Given the description of an element on the screen output the (x, y) to click on. 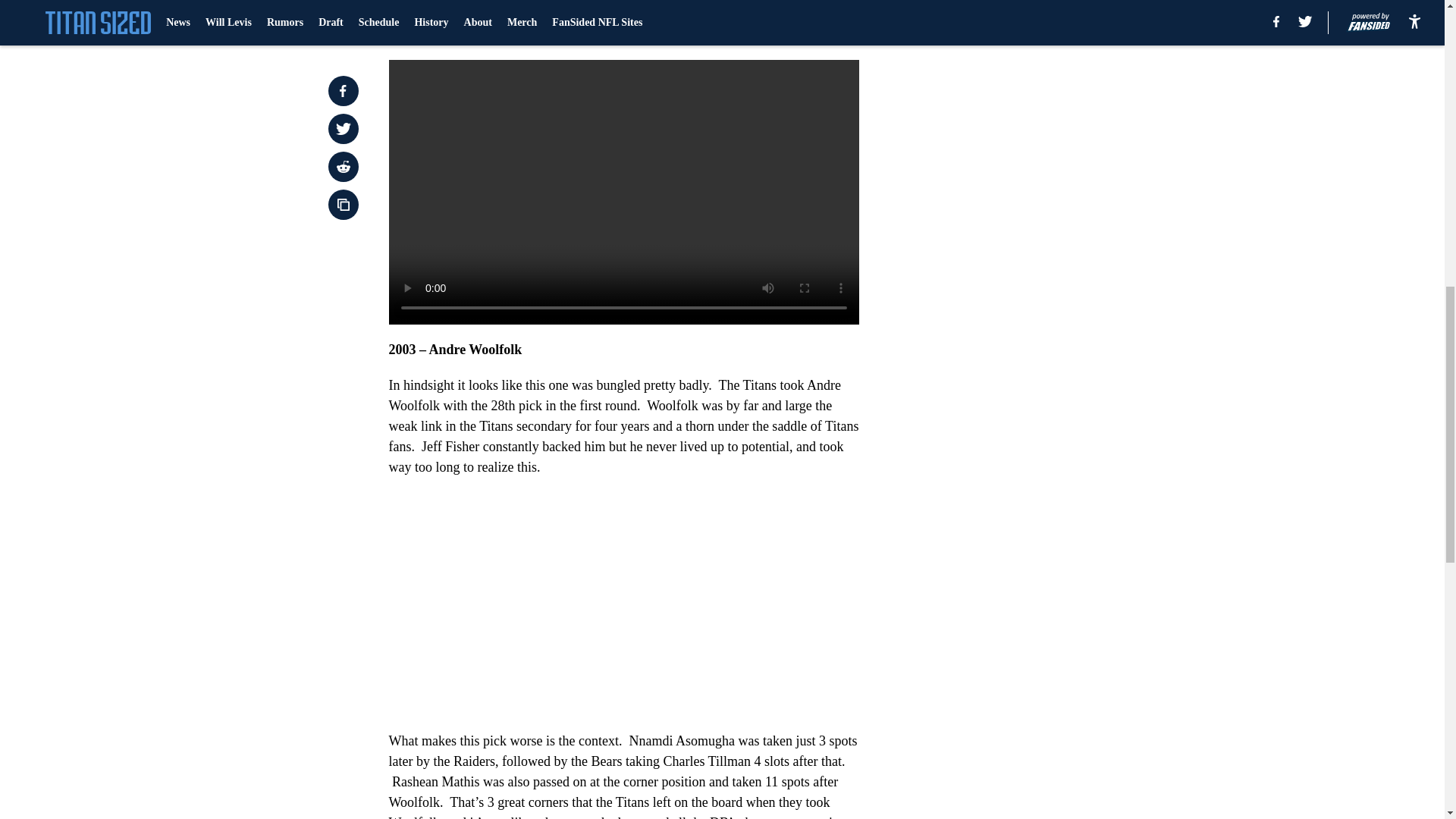
3rd party ad content (1047, 108)
Next (813, 29)
3rd party ad content (1047, 329)
Prev (433, 29)
